Given the description of an element on the screen output the (x, y) to click on. 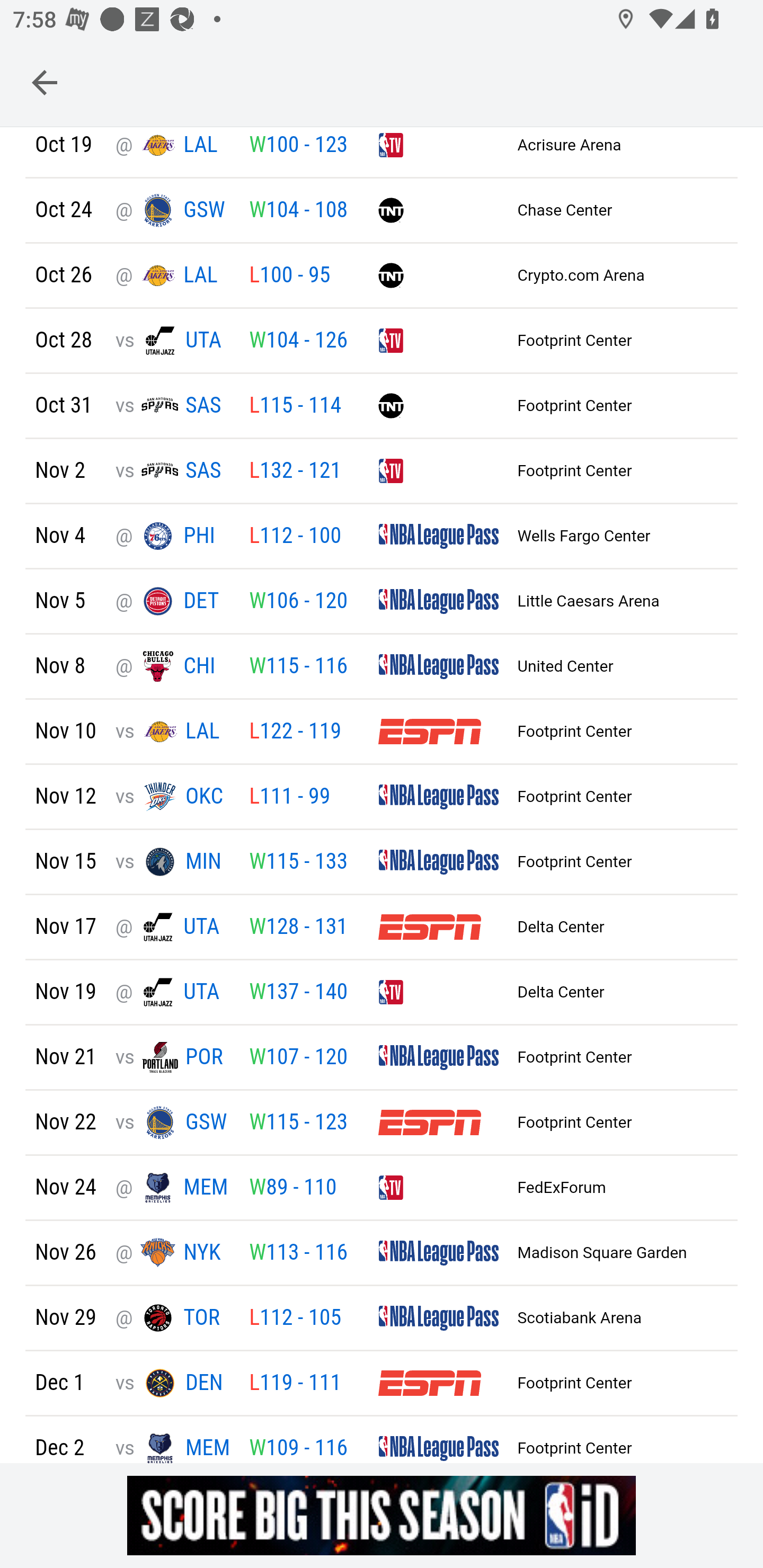
Navigate up (44, 82)
@ LAL Logo LAL @ LAL Logo LAL (172, 147)
W100 - 123 W 100 - 123 (297, 146)
@ GSW Logo GSW @ GSW Logo GSW (172, 212)
W104 - 108 W 104 - 108 (297, 212)
@ LAL Logo LAL @ LAL Logo LAL (172, 277)
L100 - 95 L 100 - 95 (288, 276)
vs UTA Logo UTA vs UTA Logo UTA (172, 342)
W104 - 126 W 104 - 126 (297, 342)
vs SAS Logo SAS vs SAS Logo SAS (172, 407)
L115 - 114 L 115 - 114 (294, 407)
vs SAS Logo SAS vs SAS Logo SAS (172, 472)
L132 - 121 L 132 - 121 (294, 472)
@ PHI Logo PHI @ PHI Logo PHI (172, 537)
L112 - 100 L 112 - 100 (294, 537)
@ DET Logo DET @ DET Logo DET (172, 602)
W106 - 120 W 106 - 120 (297, 602)
@ CHI Logo CHI @ CHI Logo CHI (172, 668)
W115 - 116 W 115 - 116 (297, 668)
vs LAL Logo LAL vs LAL Logo LAL (172, 732)
L122 - 119 L 122 - 119 (294, 732)
vs OKC Logo OKC vs OKC Logo OKC (172, 798)
L111 - 99 L 111 - 99 (288, 798)
vs MIN Logo MIN vs MIN Logo MIN (172, 863)
W115 - 133 W 115 - 133 (297, 862)
@ UTA Logo UTA @ UTA Logo UTA (172, 928)
W128 - 131 W 128 - 131 (297, 928)
@ UTA Logo UTA @ UTA Logo UTA (172, 993)
W137 - 140 W 137 - 140 (297, 994)
vs POR Logo POR vs POR Logo POR (172, 1058)
W107 - 120 W 107 - 120 (297, 1058)
vs GSW Logo GSW vs GSW Logo GSW (172, 1123)
W115 - 123 W 115 - 123 (297, 1124)
@ MEM Logo MEM @ MEM Logo MEM (172, 1188)
W89 - 110 W 89 - 110 (292, 1189)
@ NYK Logo NYK @ NYK Logo NYK (172, 1254)
W113 - 116 W 113 - 116 (297, 1254)
@ TOR Logo TOR @ TOR Logo TOR (172, 1319)
L112 - 105 L 112 - 105 (294, 1319)
vs DEN Logo DEN vs DEN Logo DEN (172, 1384)
L119 - 111 L 119 - 111 (294, 1385)
vs MEM Logo MEM vs MEM Logo MEM (172, 1446)
W109 - 116 W 109 - 116 (297, 1449)
g5nqqygr7owph (381, 1515)
